Given the description of an element on the screen output the (x, y) to click on. 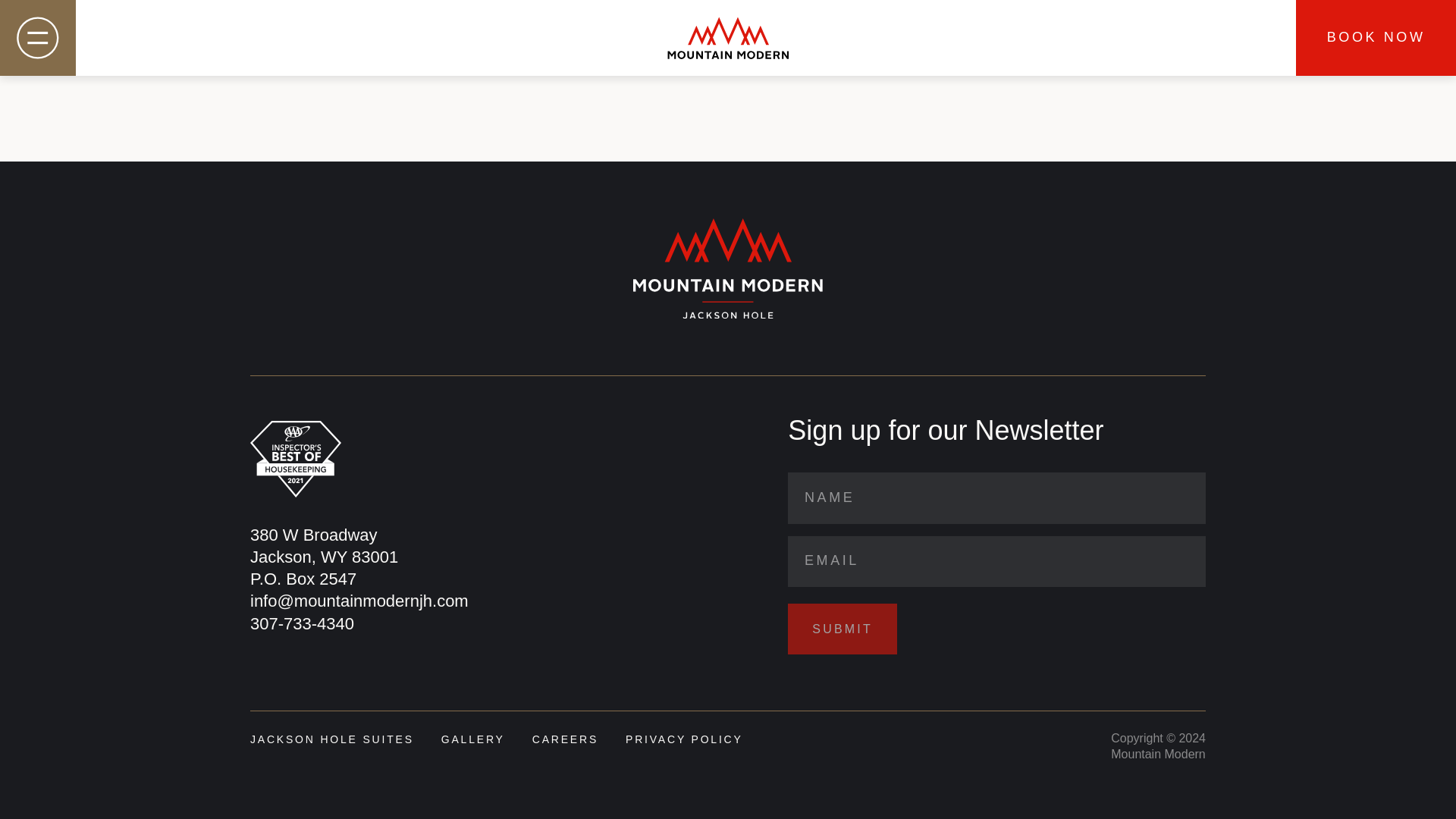
307-733-4340 (323, 557)
